Given the description of an element on the screen output the (x, y) to click on. 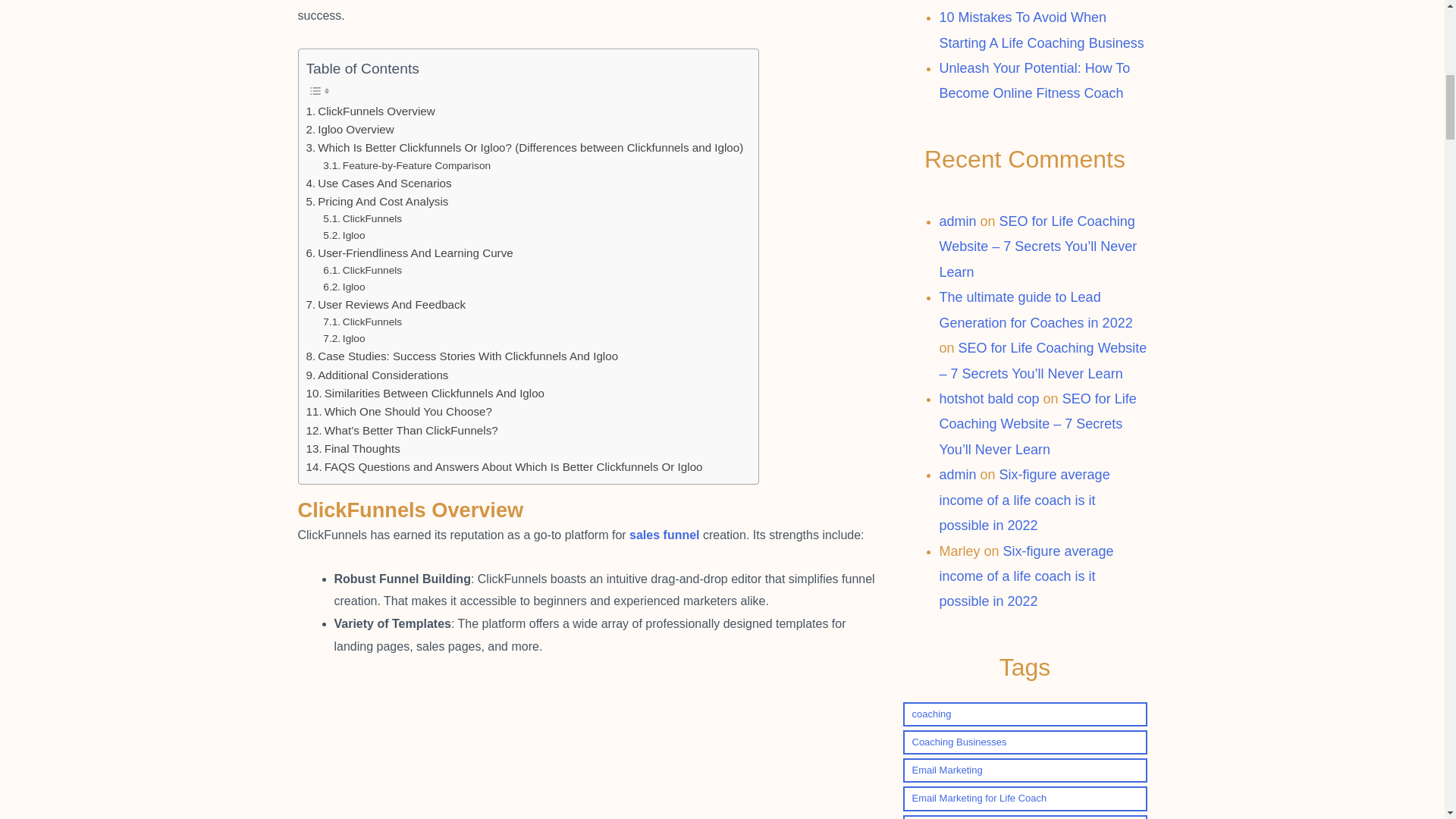
Use Cases And Scenarios (378, 183)
Igloo Overview (349, 129)
ClickFunnels Overview (370, 111)
Pricing And Cost Analysis (376, 201)
Igloo (344, 235)
User Reviews And Feedback (385, 304)
Feature-by-Feature Comparison (406, 166)
Igloo (344, 287)
ClickFunnels (362, 218)
User-Friendliness And Learning Curve (409, 253)
